Given the description of an element on the screen output the (x, y) to click on. 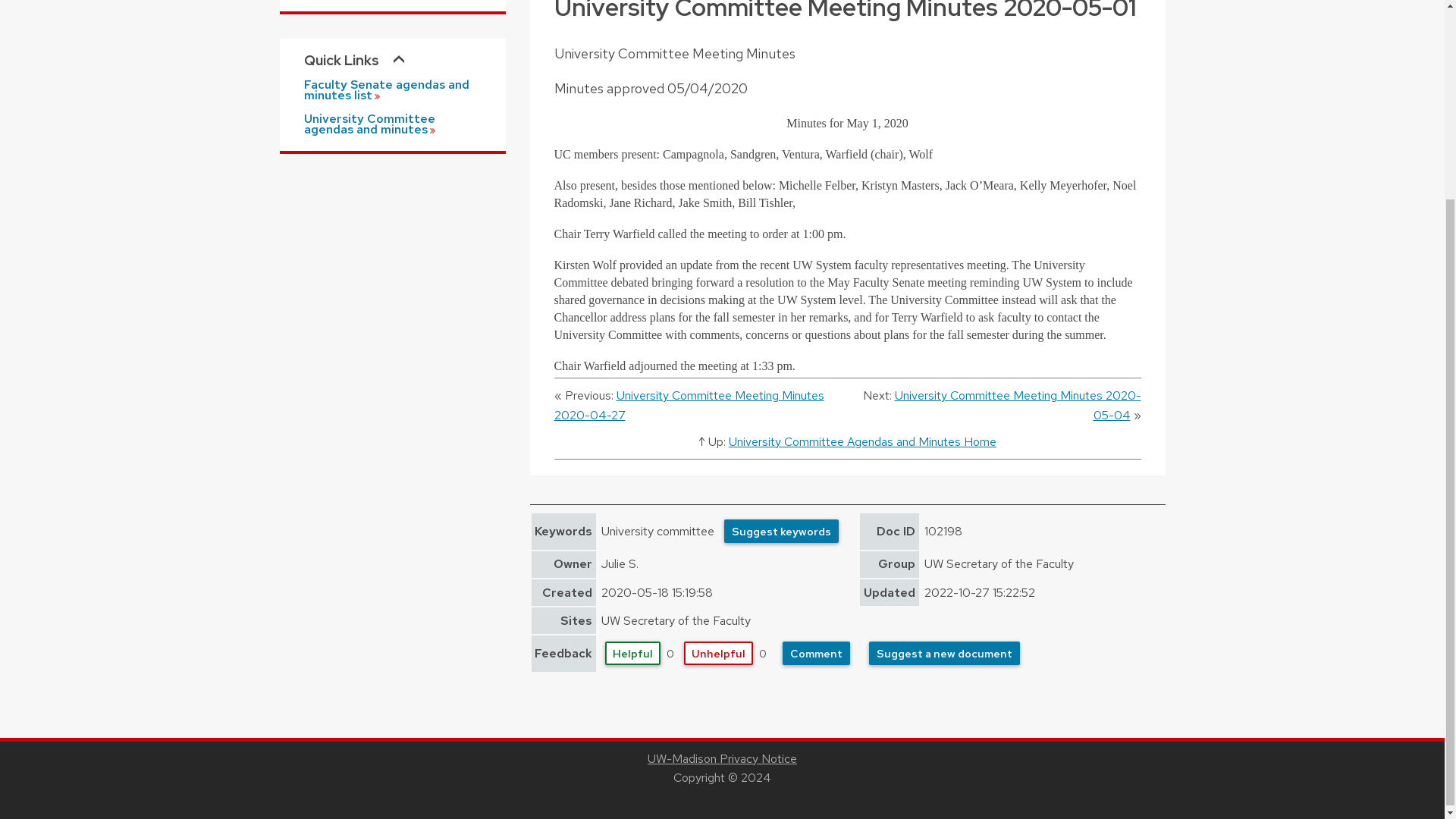
Comment (816, 653)
University Committee agendas and minutes (391, 124)
Helpful (633, 653)
University Committee Meeting Minutes 2020-05-04 (1018, 404)
Unhelpful (718, 653)
Suggest keywords (780, 530)
UW-Madison Privacy Notice (721, 758)
University Committee Meeting Minutes 2020-04-27 (688, 404)
Faculty Senate agendas and minutes list (391, 89)
University Committee Agendas and Minutes Home (862, 441)
Suggest a new document (944, 653)
